Given the description of an element on the screen output the (x, y) to click on. 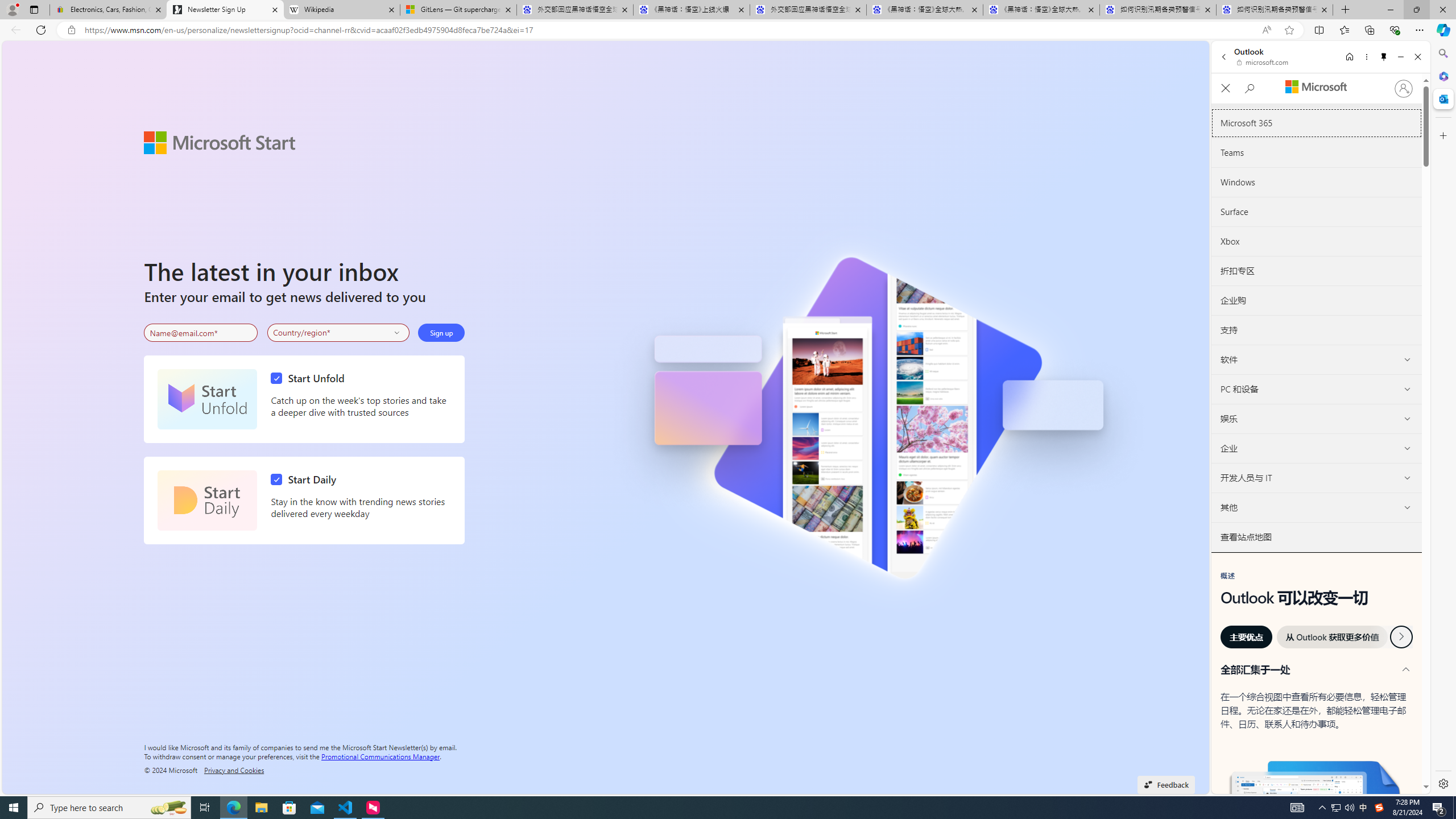
Select your country (338, 332)
Promotional Communications Manager (380, 755)
Newsletter Sign Up (224, 9)
Teams (1316, 152)
